Given the description of an element on the screen output the (x, y) to click on. 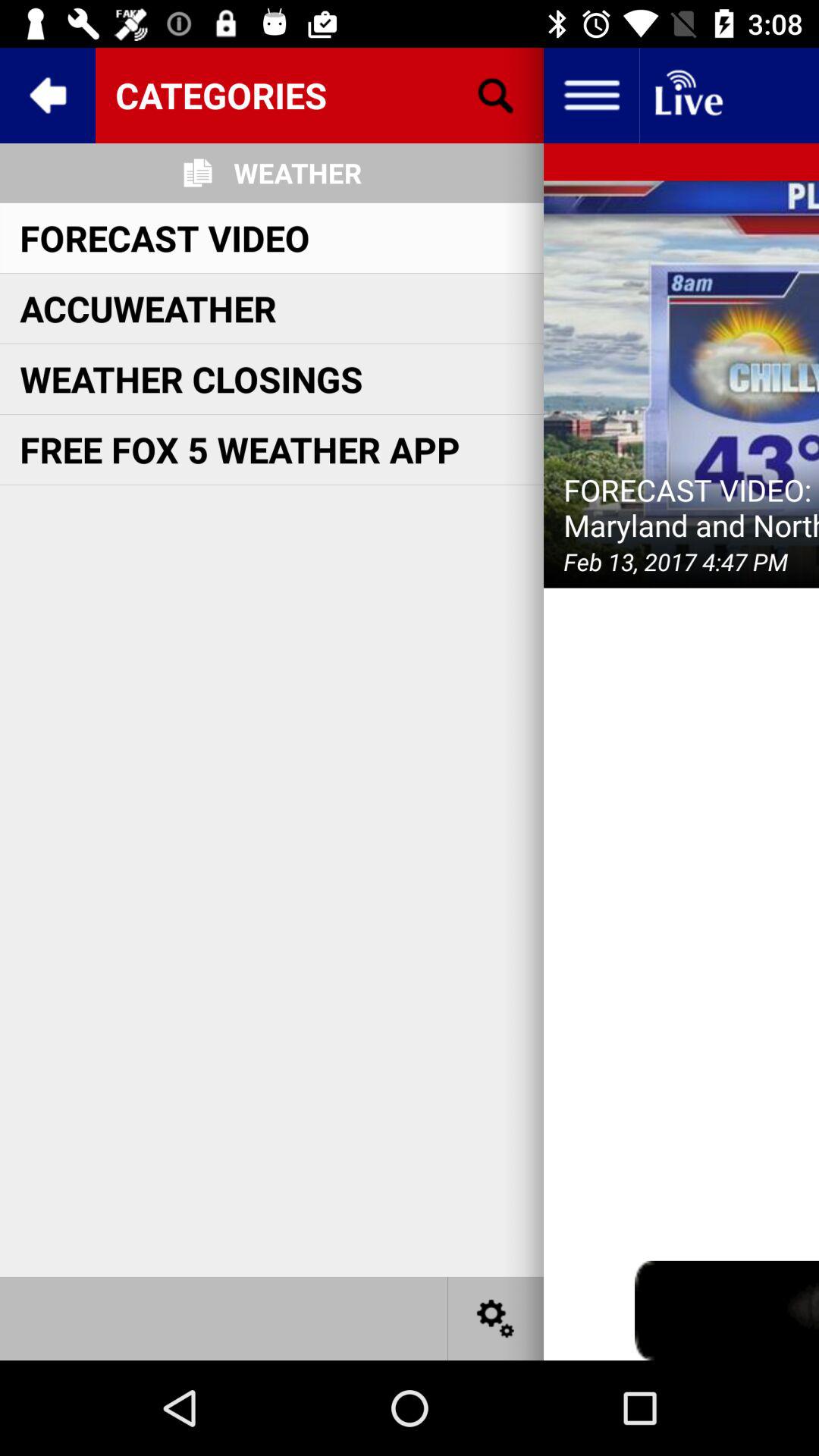
turn off icon above the weather (319, 95)
